Given the description of an element on the screen output the (x, y) to click on. 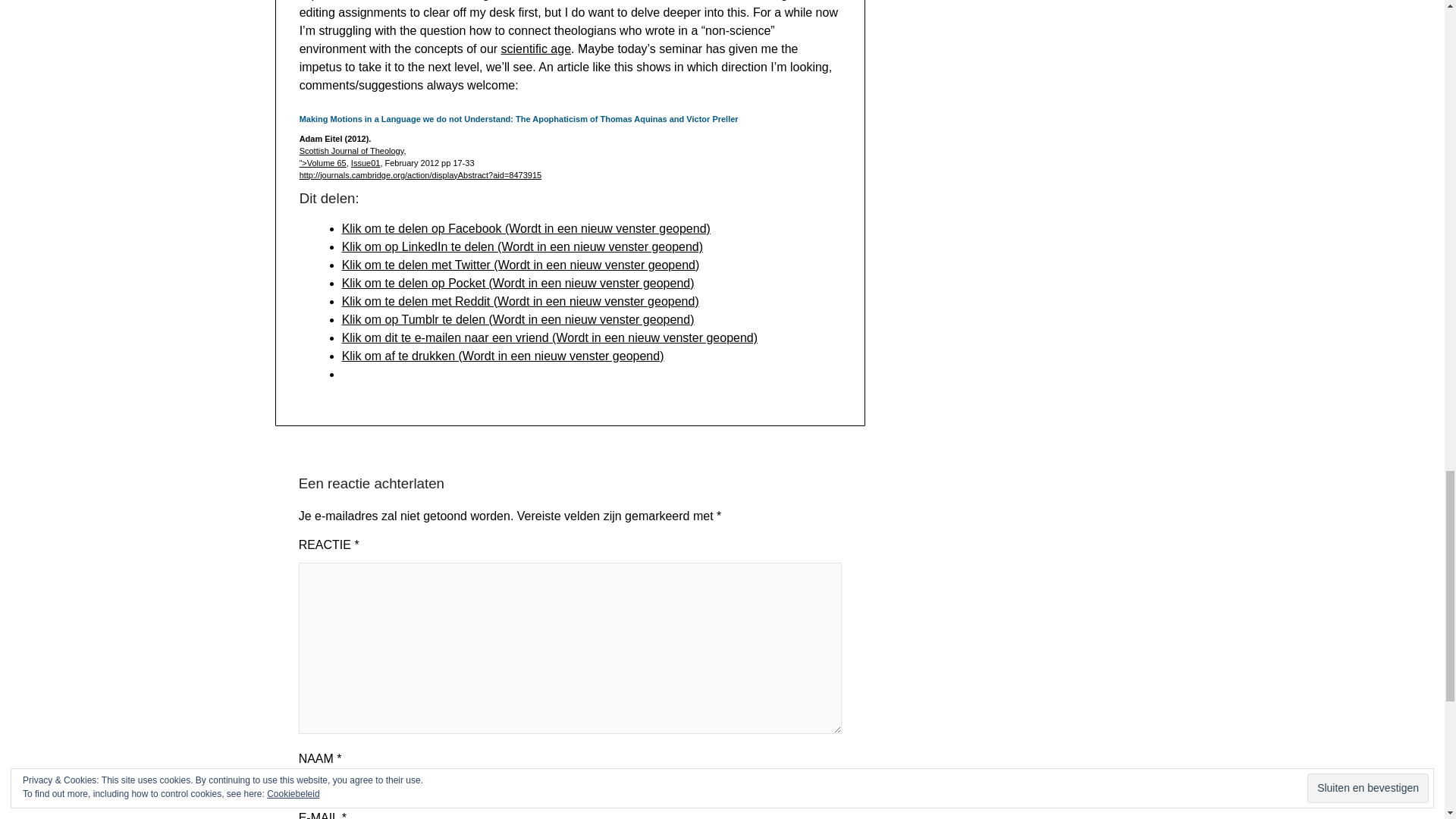
Klik om af te drukken (502, 355)
Klik om dit te e-mailen naar een vriend (549, 337)
Klik om te delen op Facebook (526, 228)
Klik om te delen met Twitter (521, 264)
Klik om op Tumblr te delen (518, 318)
Klik om op LinkedIn te delen (522, 246)
Issue01 (365, 162)
Klik om te delen op Pocket (518, 282)
scientific age (536, 48)
Scottish Journal of Theology (351, 150)
